Given the description of an element on the screen output the (x, y) to click on. 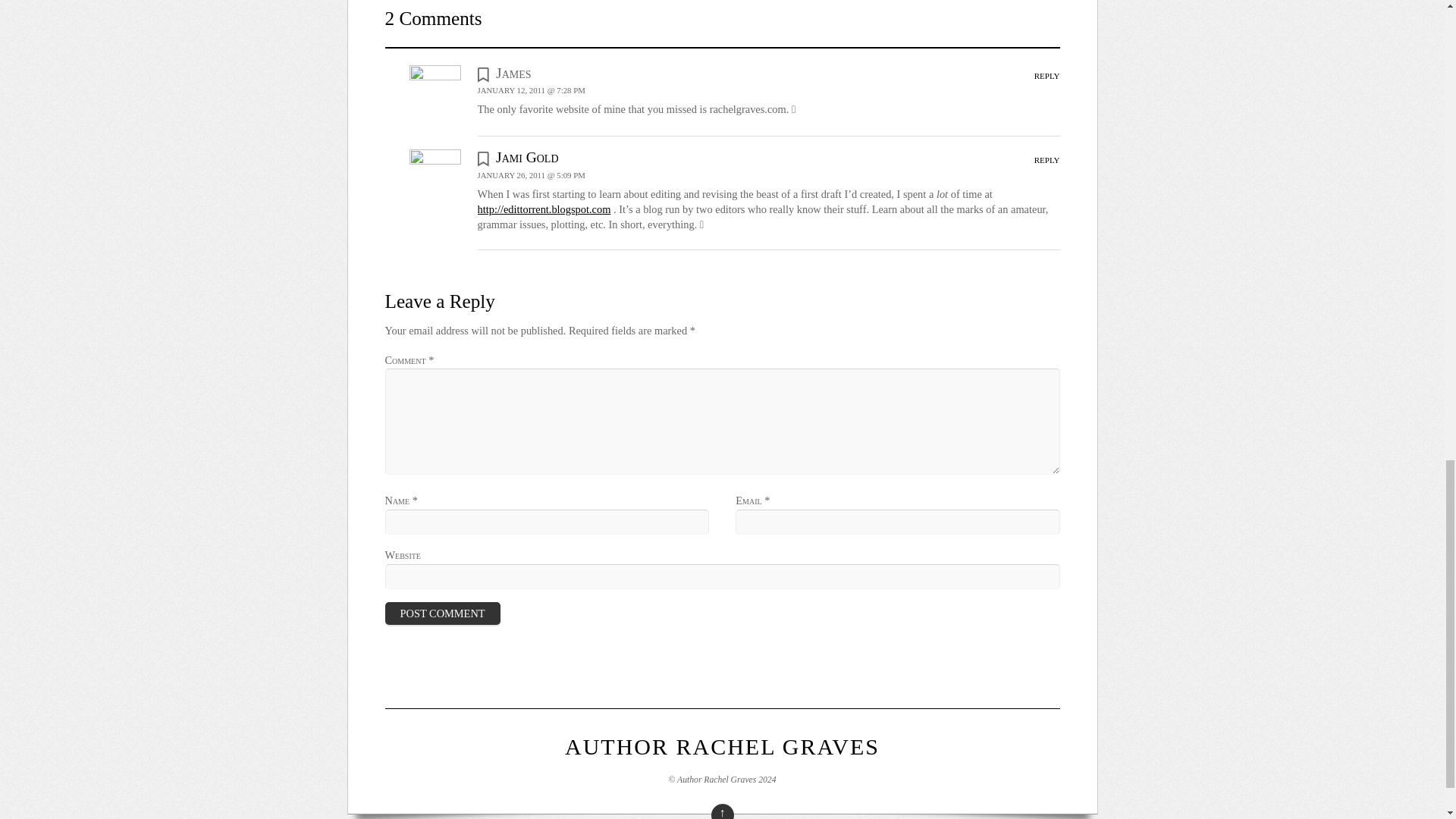
REPLY (1046, 75)
Post Comment (442, 612)
Post Comment (442, 612)
Author Rachel Graves (721, 746)
AUTHOR RACHEL GRAVES (721, 746)
Jami Gold (526, 157)
REPLY (1046, 159)
